Given the description of an element on the screen output the (x, y) to click on. 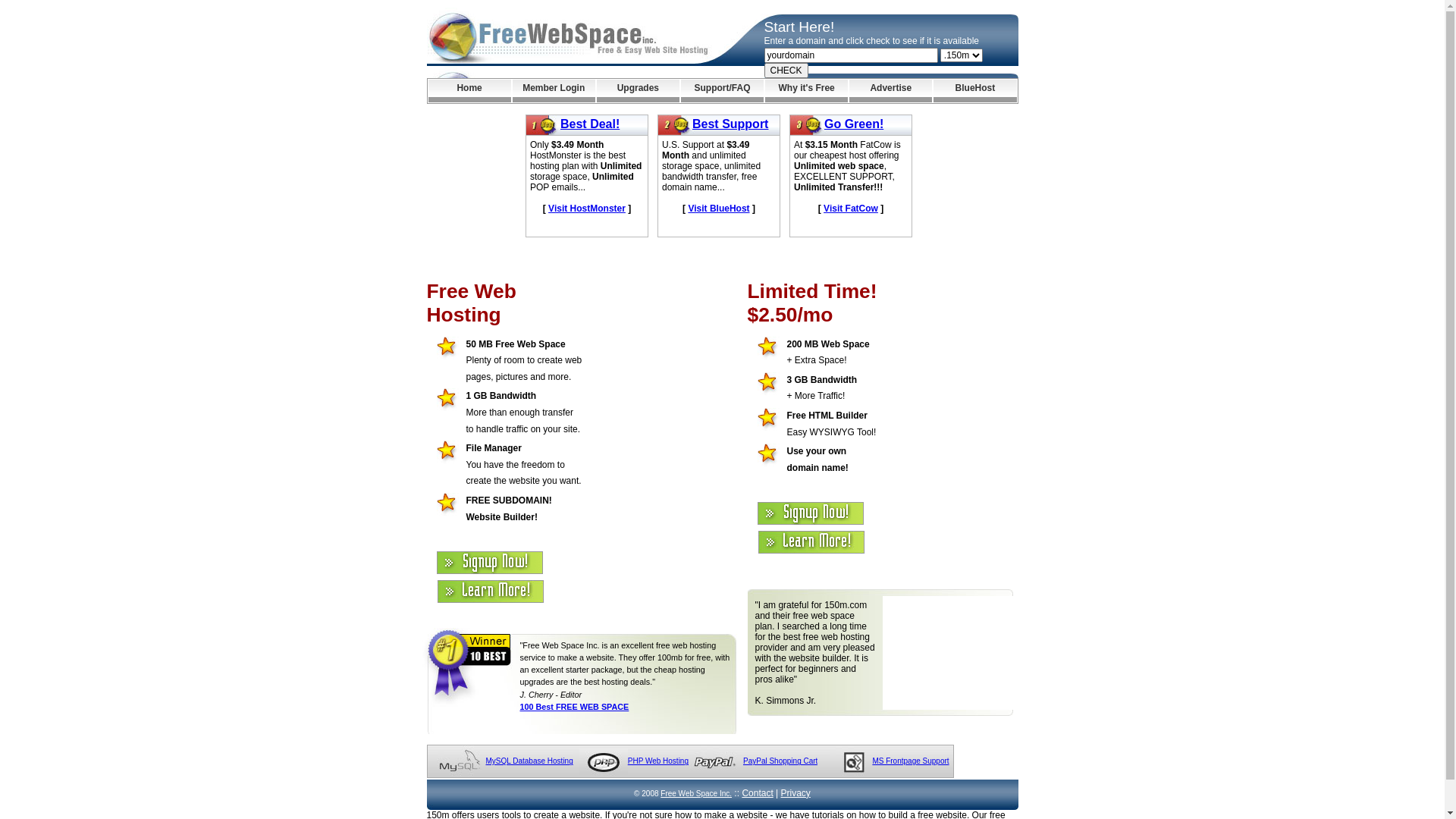
MS Frontpage Support Element type: text (910, 760)
Support/FAQ Element type: text (721, 90)
MySQL Database Hosting Element type: text (528, 760)
100 Best FREE WEB SPACE Element type: text (574, 706)
Member Login Element type: text (553, 90)
Privacy Element type: text (795, 792)
Free Web Space Inc. Element type: text (695, 793)
Home Element type: text (468, 90)
PayPal Shopping Cart Element type: text (780, 760)
PHP Web Hosting Element type: text (657, 760)
Contact Element type: text (756, 792)
CHECK Element type: text (786, 70)
Upgrades Element type: text (637, 90)
BlueHost Element type: text (974, 90)
Advertise Element type: text (890, 90)
Why it's Free Element type: text (806, 90)
